Given the description of an element on the screen output the (x, y) to click on. 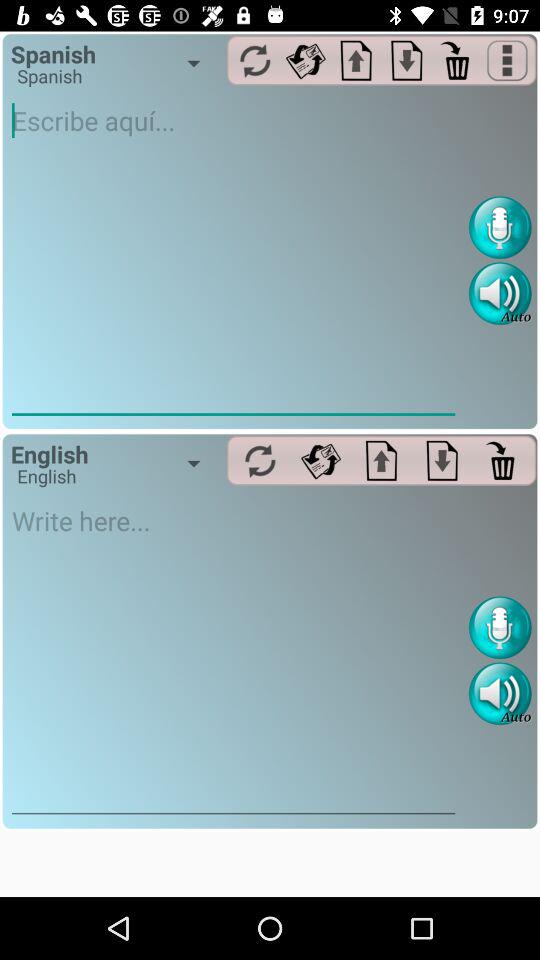
toggle delete button (502, 460)
